Given the description of an element on the screen output the (x, y) to click on. 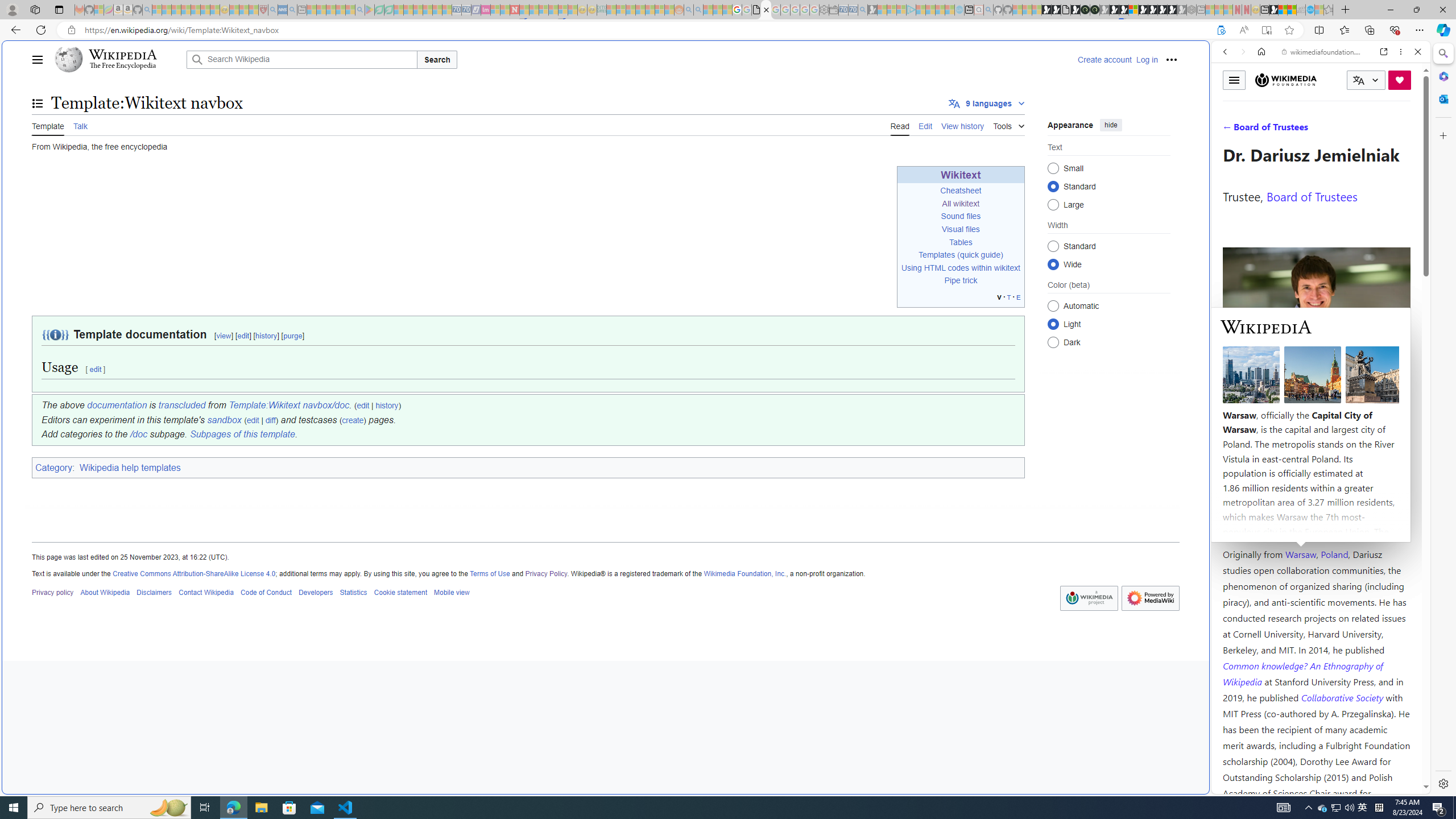
Automatic (1053, 305)
All wikitext (960, 203)
Subpages of this template (242, 434)
